Given the description of an element on the screen output the (x, y) to click on. 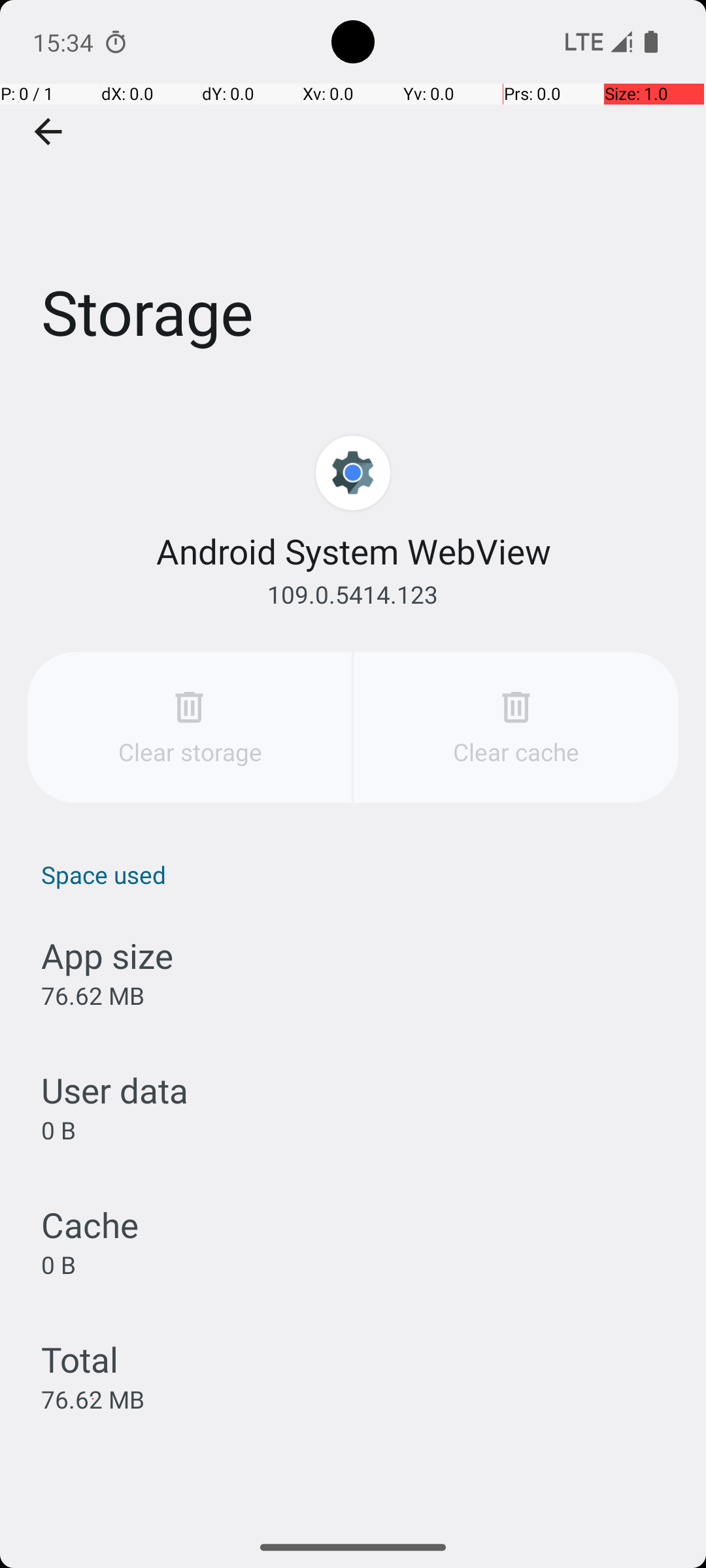
109.0.5414.123 Element type: android.widget.TextView (352, 593)
Clear storage Element type: android.widget.Button (189, 727)
Clear cache Element type: android.widget.Button (515, 727)
Space used Element type: android.widget.TextView (359, 874)
App size Element type: android.widget.TextView (107, 955)
76.62 MB Element type: android.widget.TextView (92, 995)
User data Element type: android.widget.TextView (114, 1089)
Cache Element type: android.widget.TextView (89, 1224)
